Given the description of an element on the screen output the (x, y) to click on. 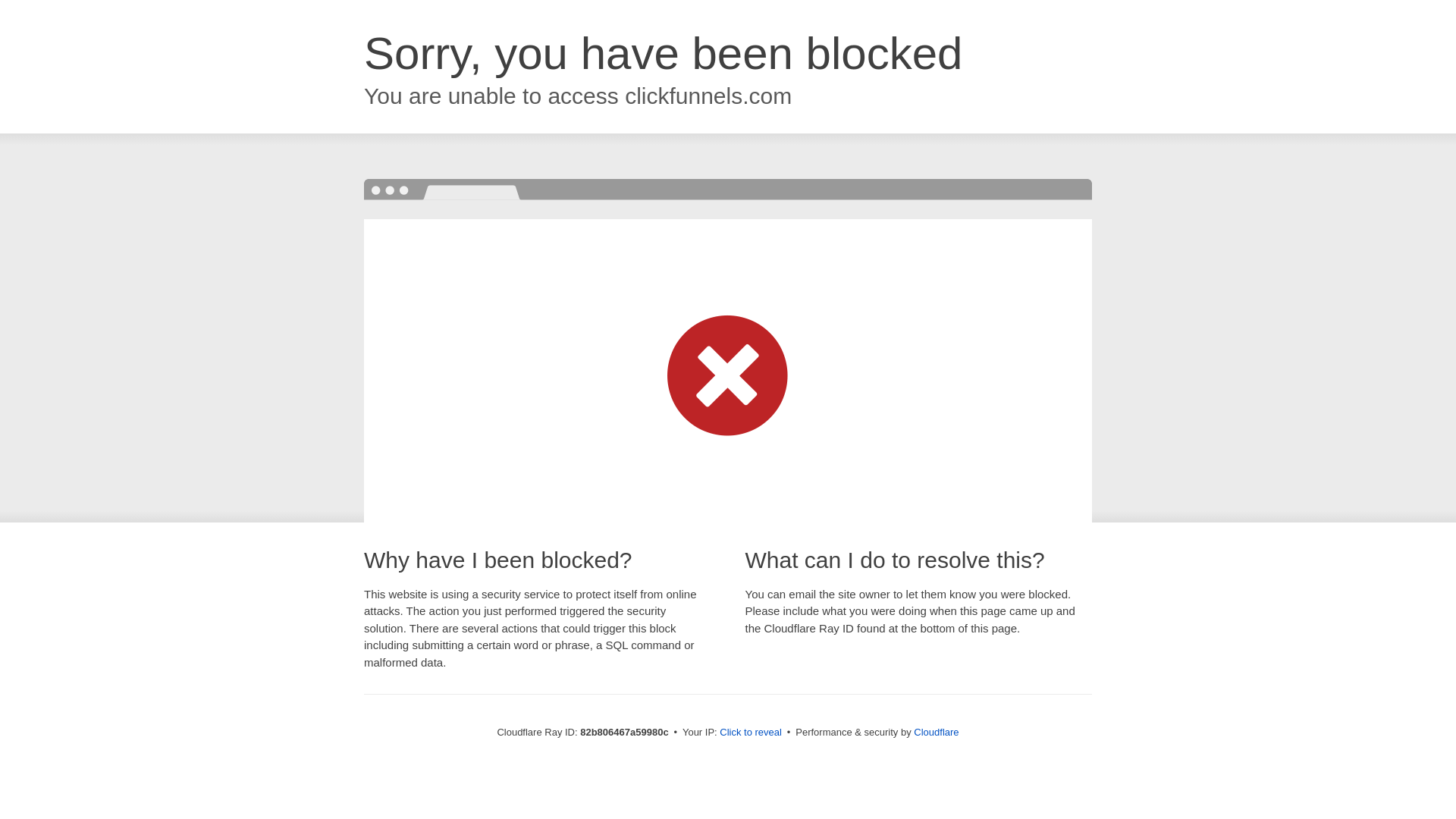
Cloudflare Element type: text (935, 731)
Click to reveal Element type: text (750, 732)
